Given the description of an element on the screen output the (x, y) to click on. 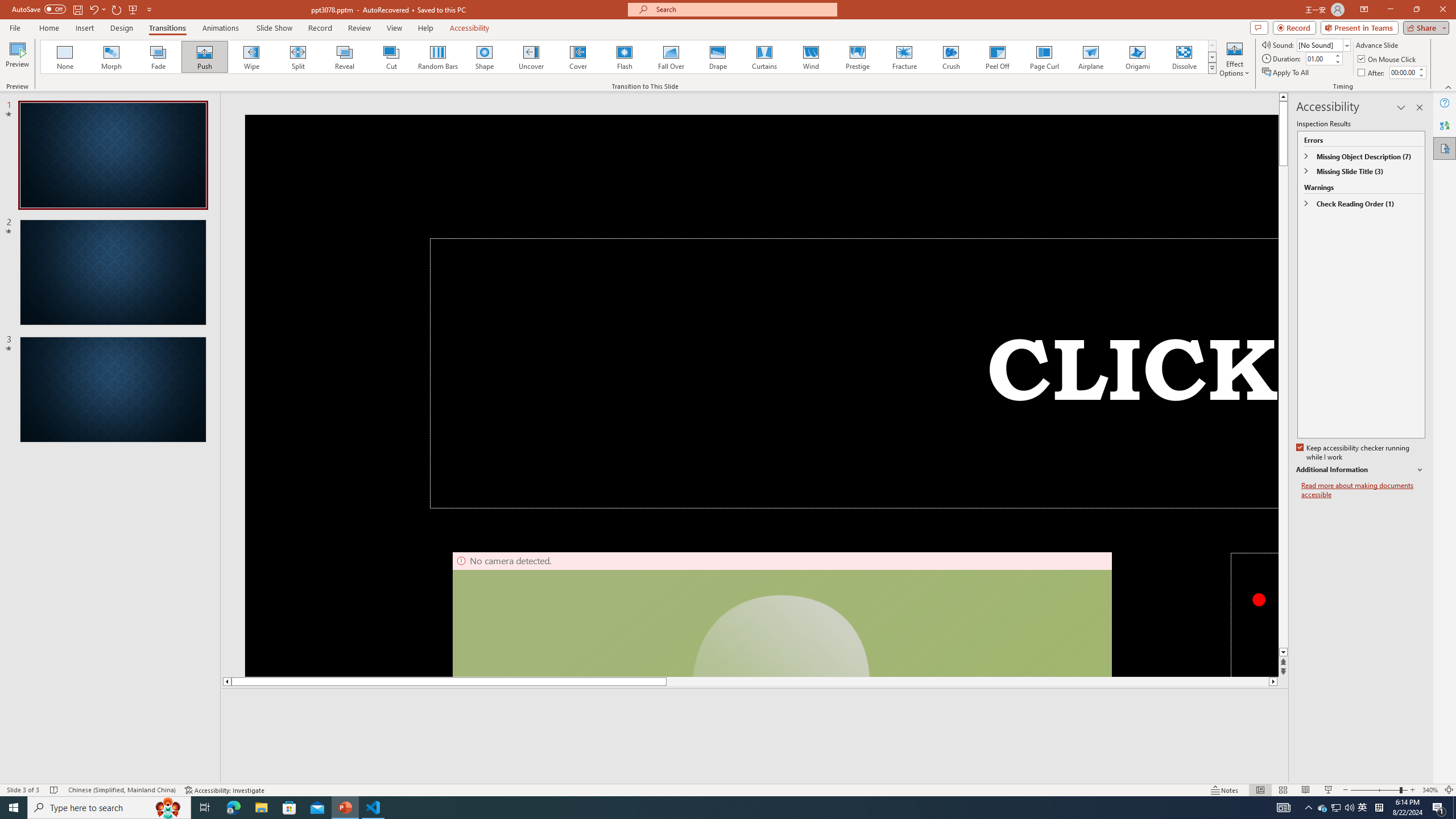
On Mouse Click (1387, 58)
Fracture (903, 56)
Airplane (1090, 56)
Sound (1324, 44)
Reveal (344, 56)
